Given the description of an element on the screen output the (x, y) to click on. 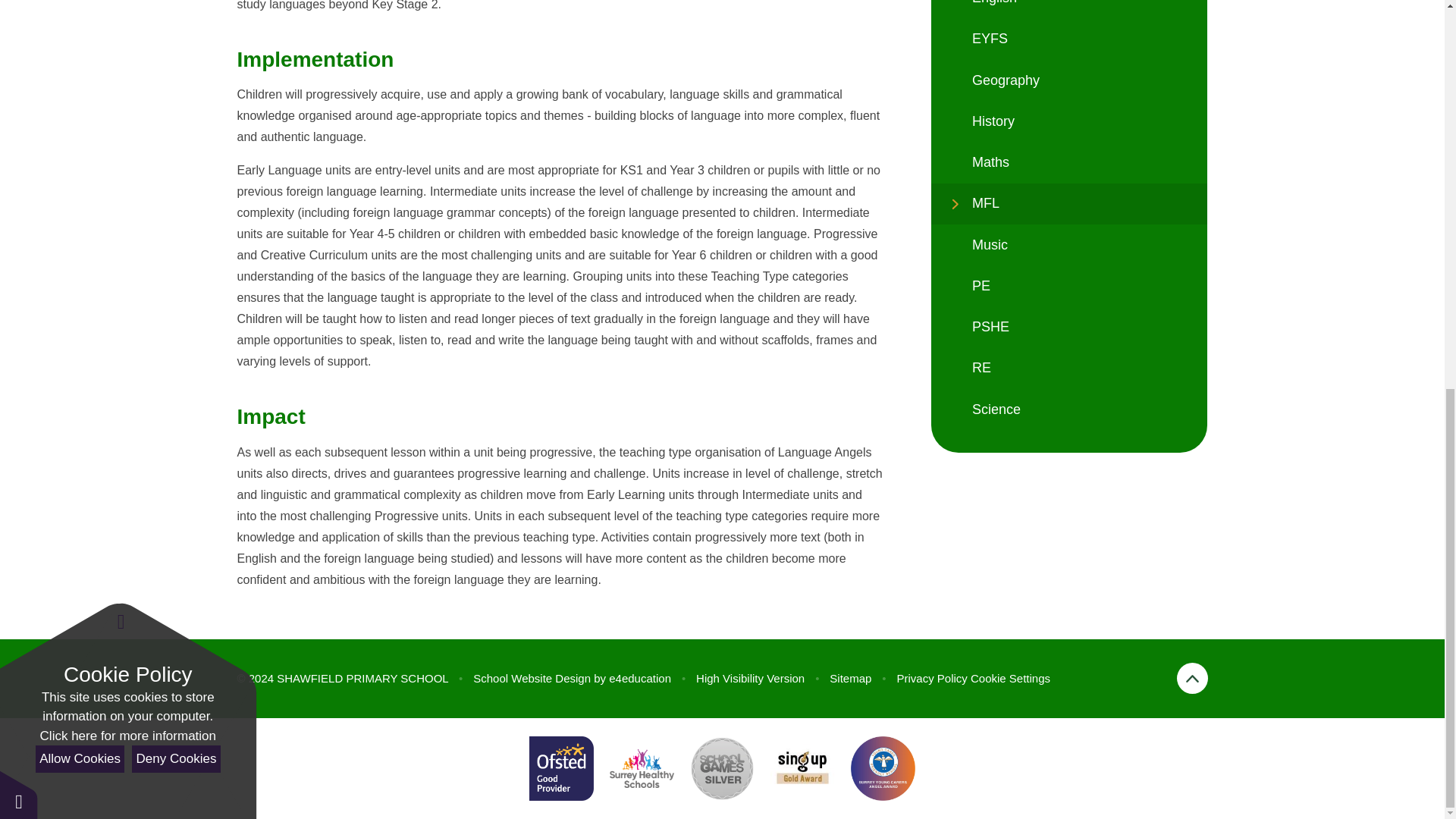
See cookie policy (127, 2)
Deny Cookies (175, 18)
Cookie Settings (1010, 677)
Allow Cookies (78, 18)
